Given the description of an element on the screen output the (x, y) to click on. 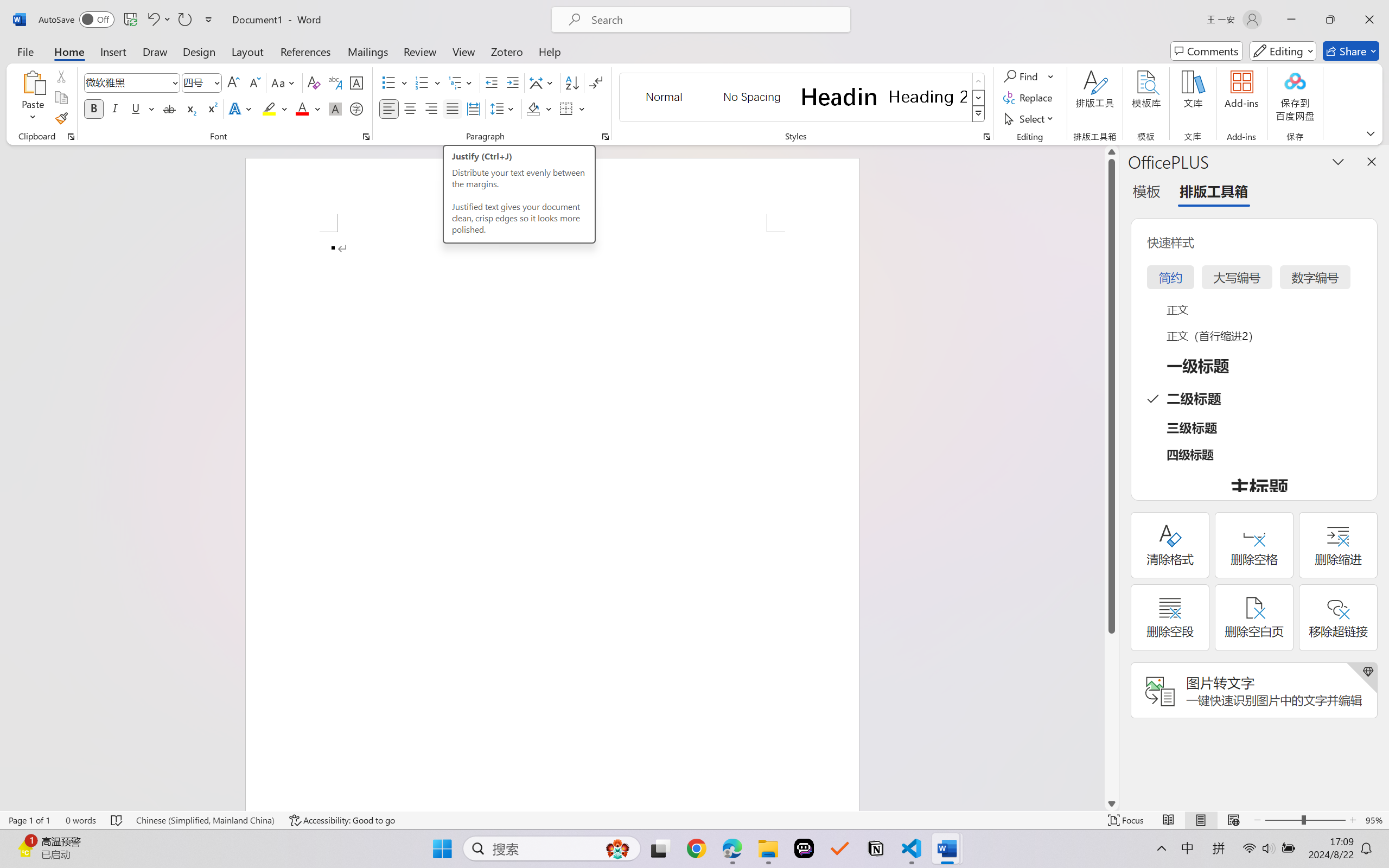
Line down (1111, 803)
